Given the description of an element on the screen output the (x, y) to click on. 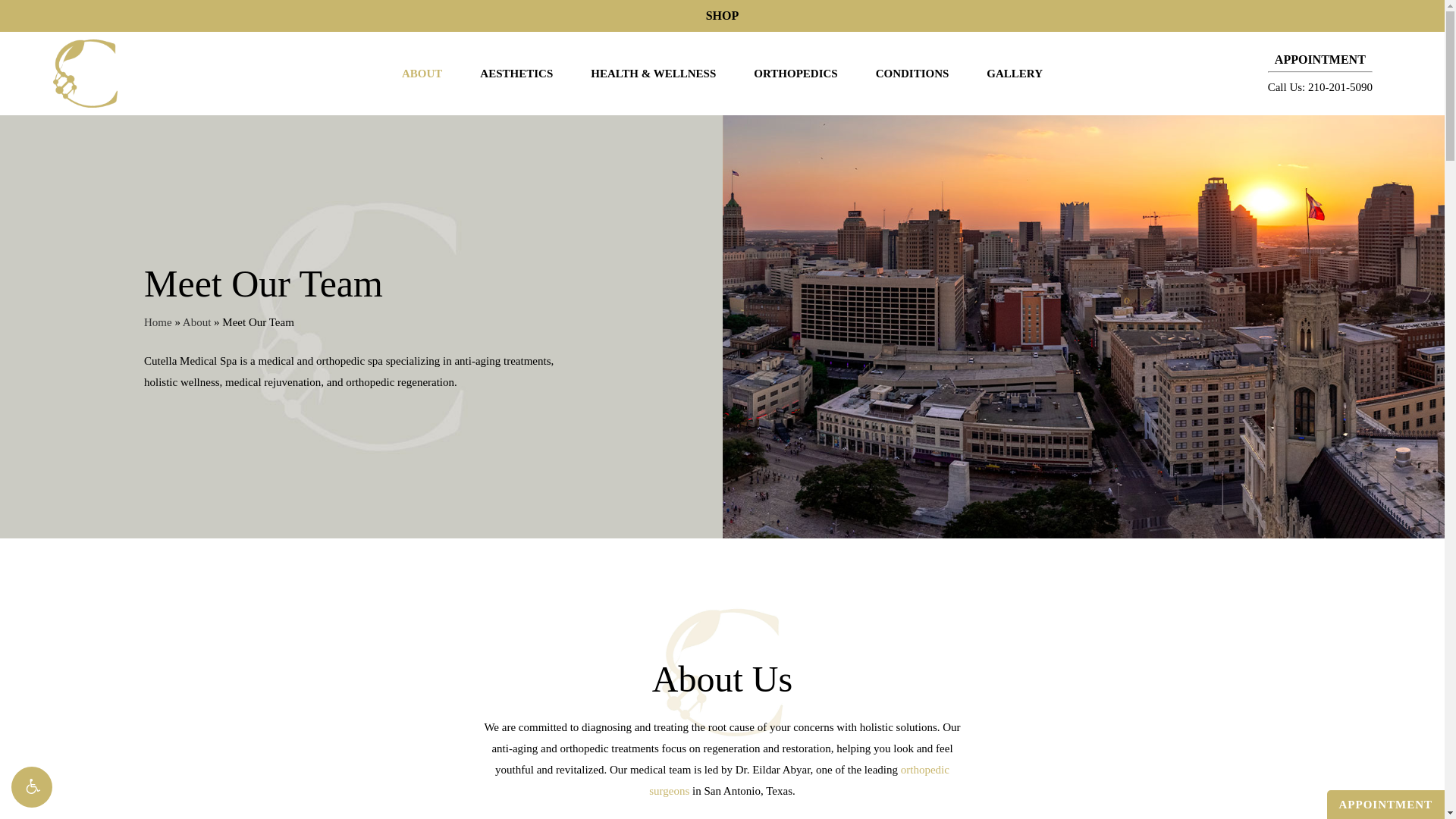
SHOP (722, 15)
AESTHETICS (516, 72)
ABOUT (421, 72)
